Given the description of an element on the screen output the (x, y) to click on. 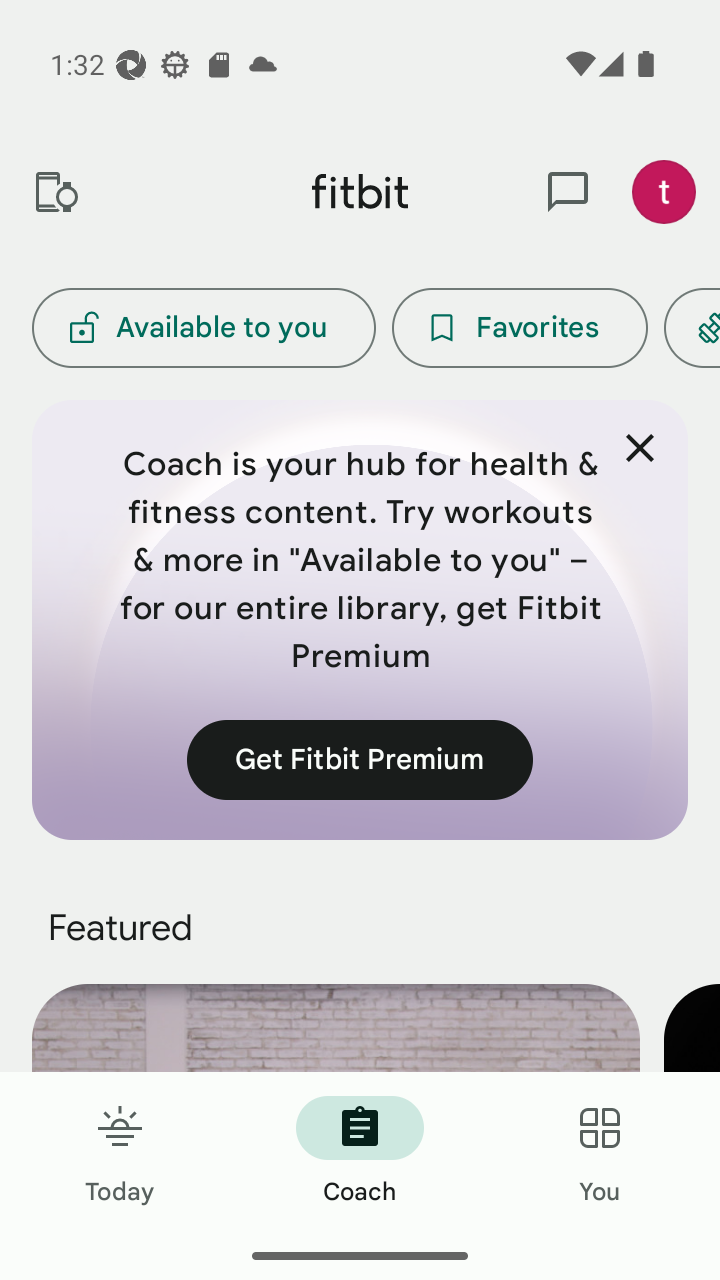
Devices and apps (55, 191)
messages and notifications (567, 191)
Available to you (203, 328)
Favorites (519, 328)
Close promotional content (639, 447)
Get Fitbit Premium (359, 759)
Today (119, 1151)
You (600, 1151)
